Given the description of an element on the screen output the (x, y) to click on. 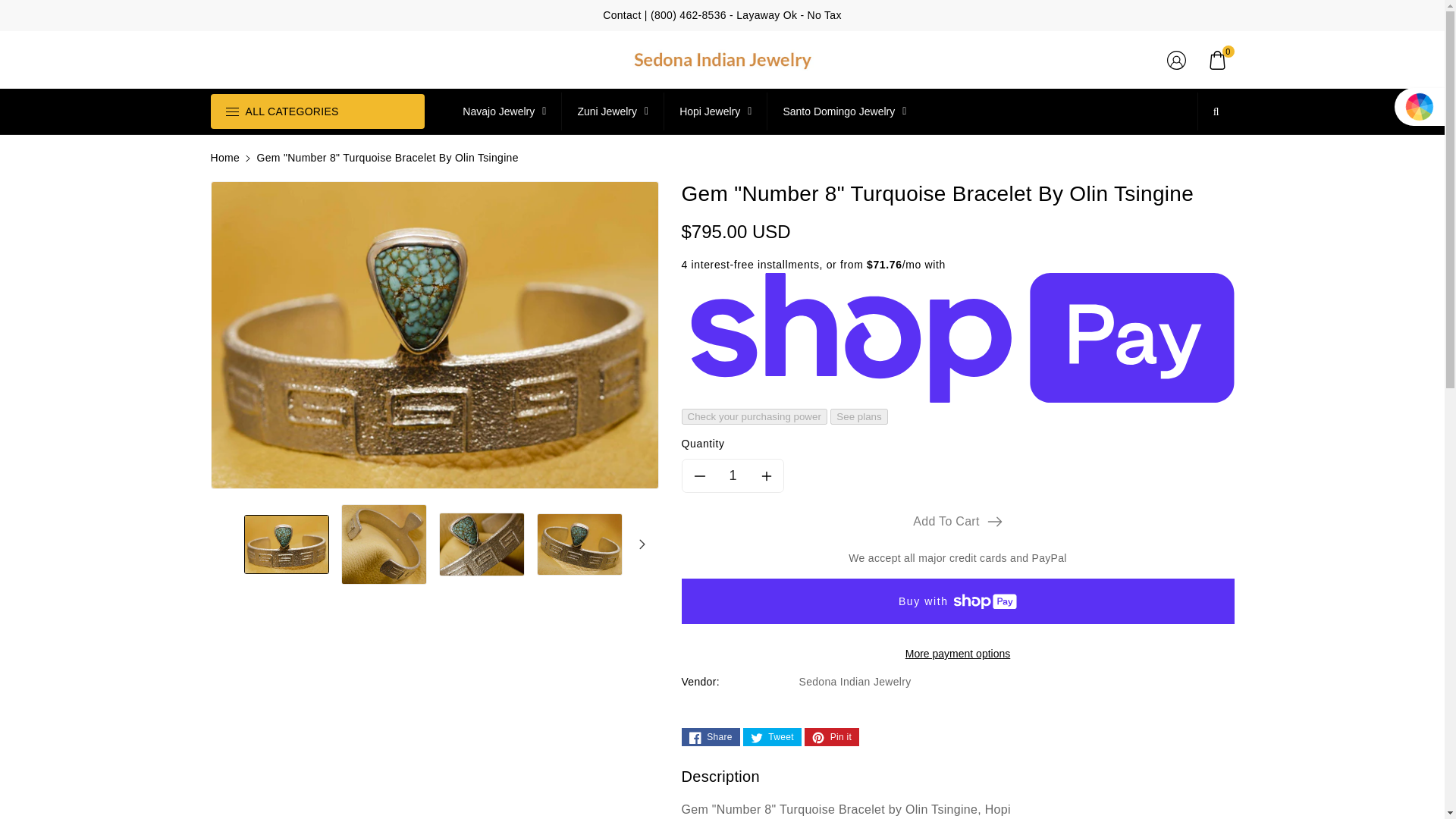
Contact (621, 15)
1 (732, 475)
Skip To Content (8, 5)
